Given the description of an element on the screen output the (x, y) to click on. 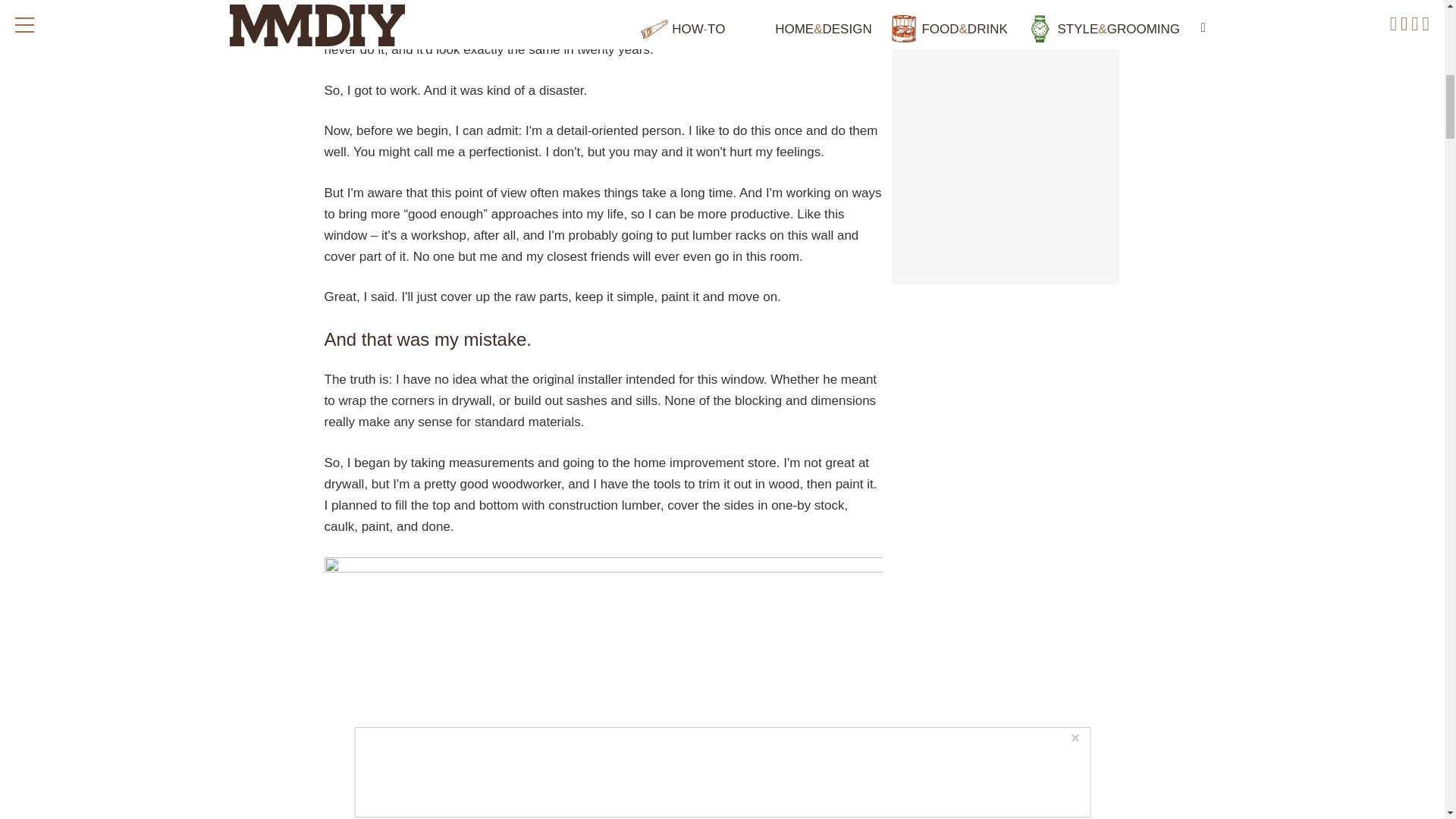
Page Break (603, 90)
